Given the description of an element on the screen output the (x, y) to click on. 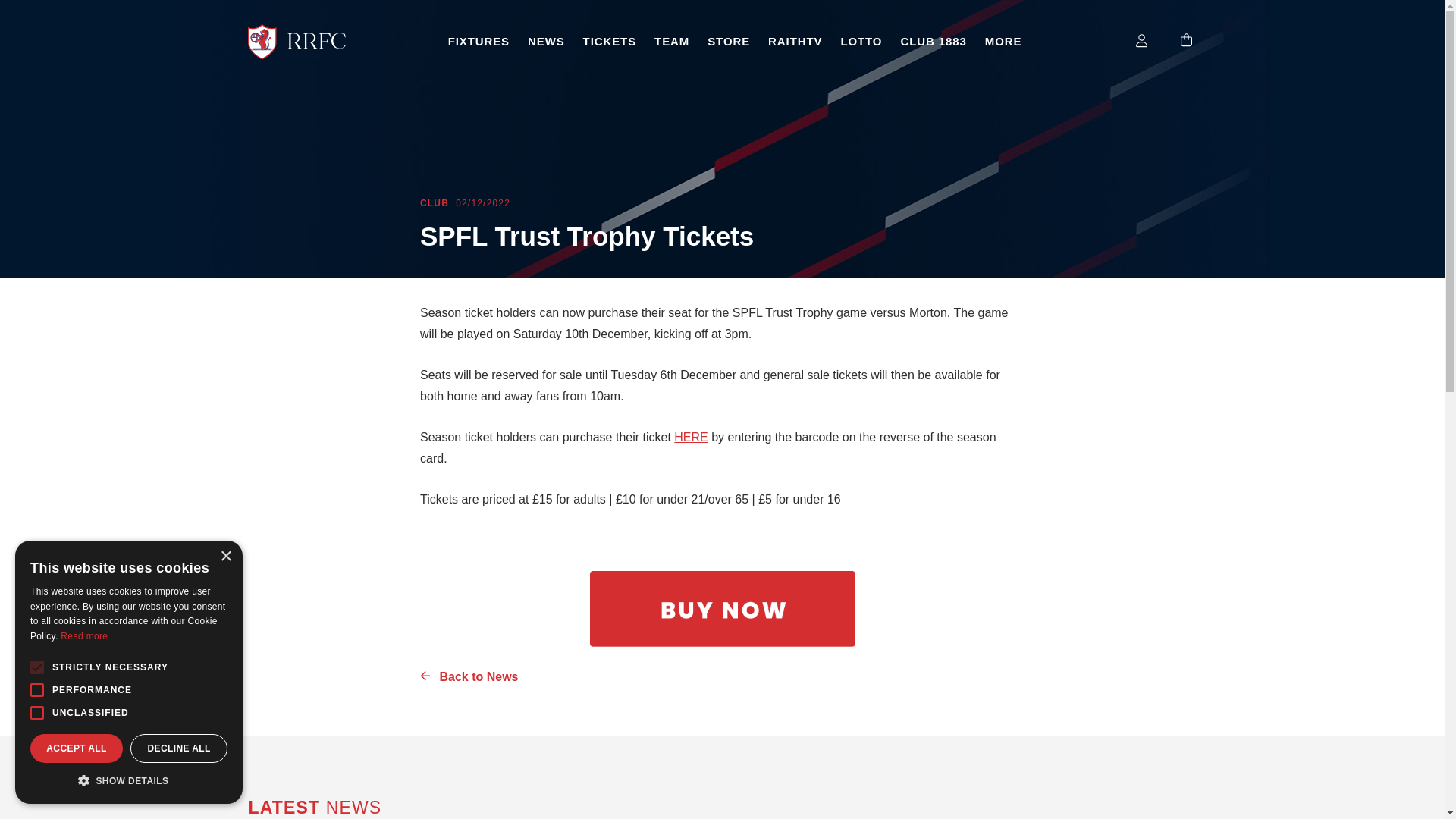
RAITHTV (794, 42)
FIXTURES (478, 42)
TICKETS (609, 42)
CLUB 1883 (933, 42)
